Given the description of an element on the screen output the (x, y) to click on. 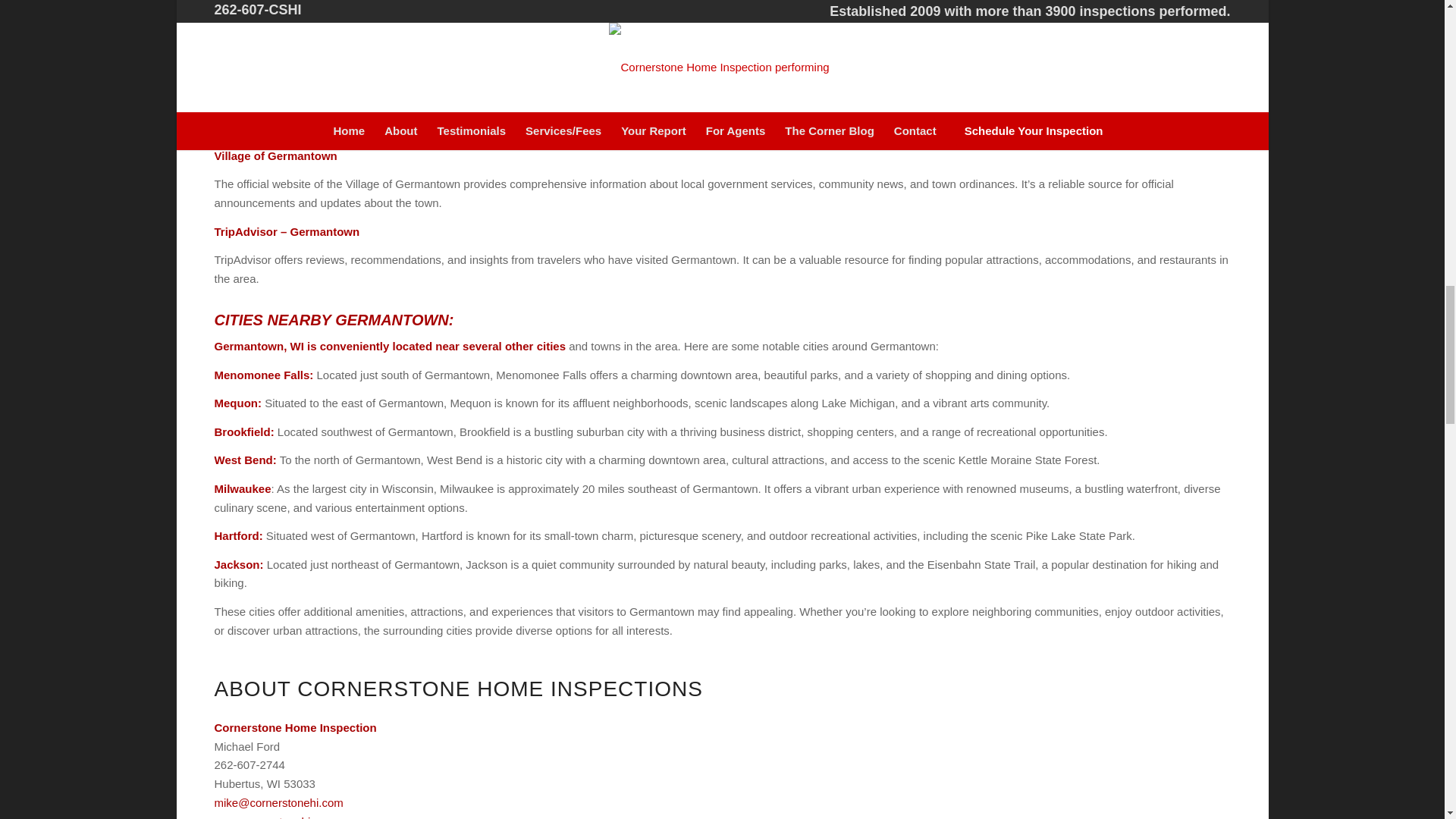
Village of Germantown (275, 155)
Germantown Historical Society (297, 5)
Schauer Arts Center (268, 79)
www.cornerstonehi.com (274, 816)
